Given the description of an element on the screen output the (x, y) to click on. 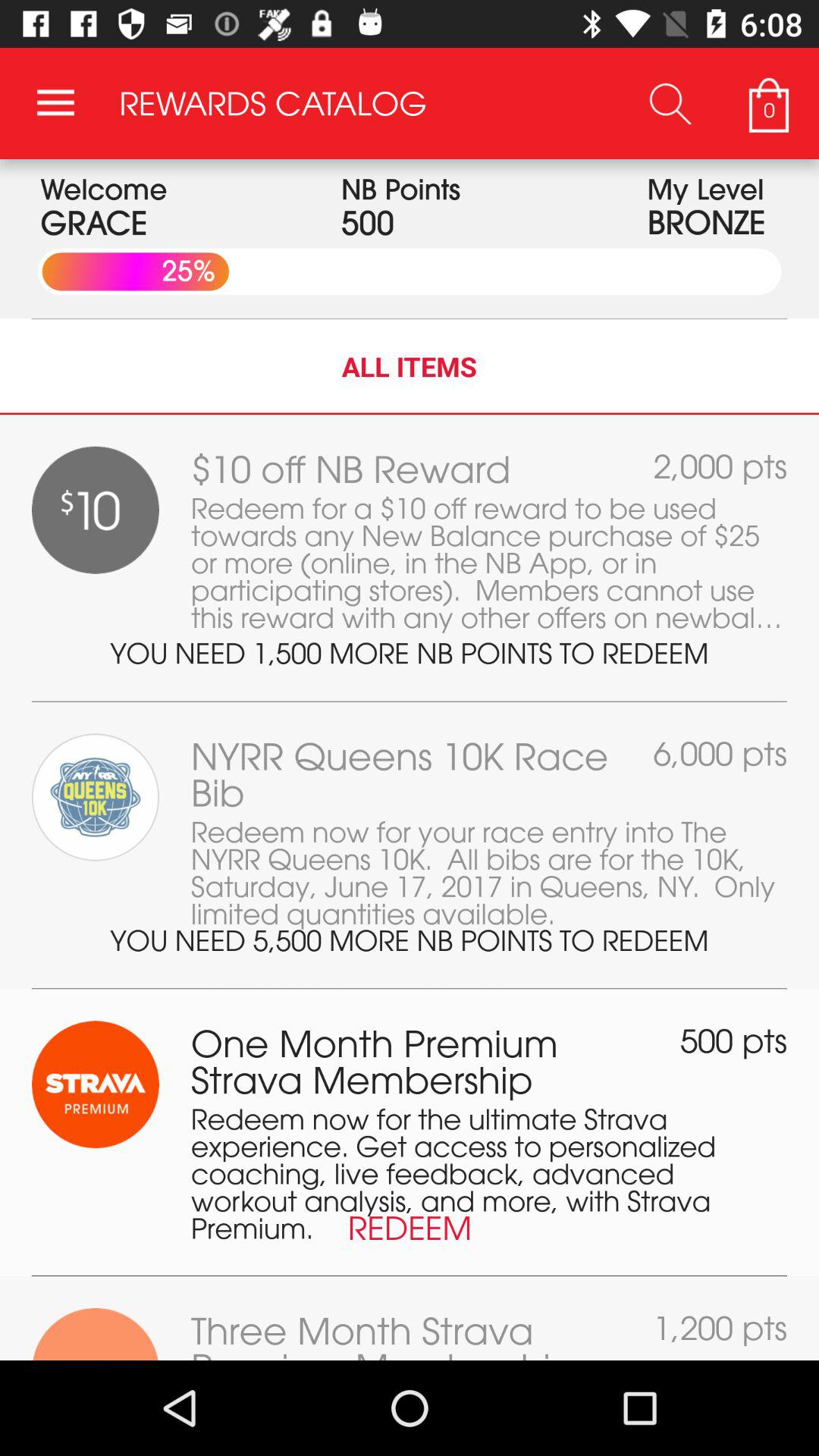
choose all items (409, 366)
